Given the description of an element on the screen output the (x, y) to click on. 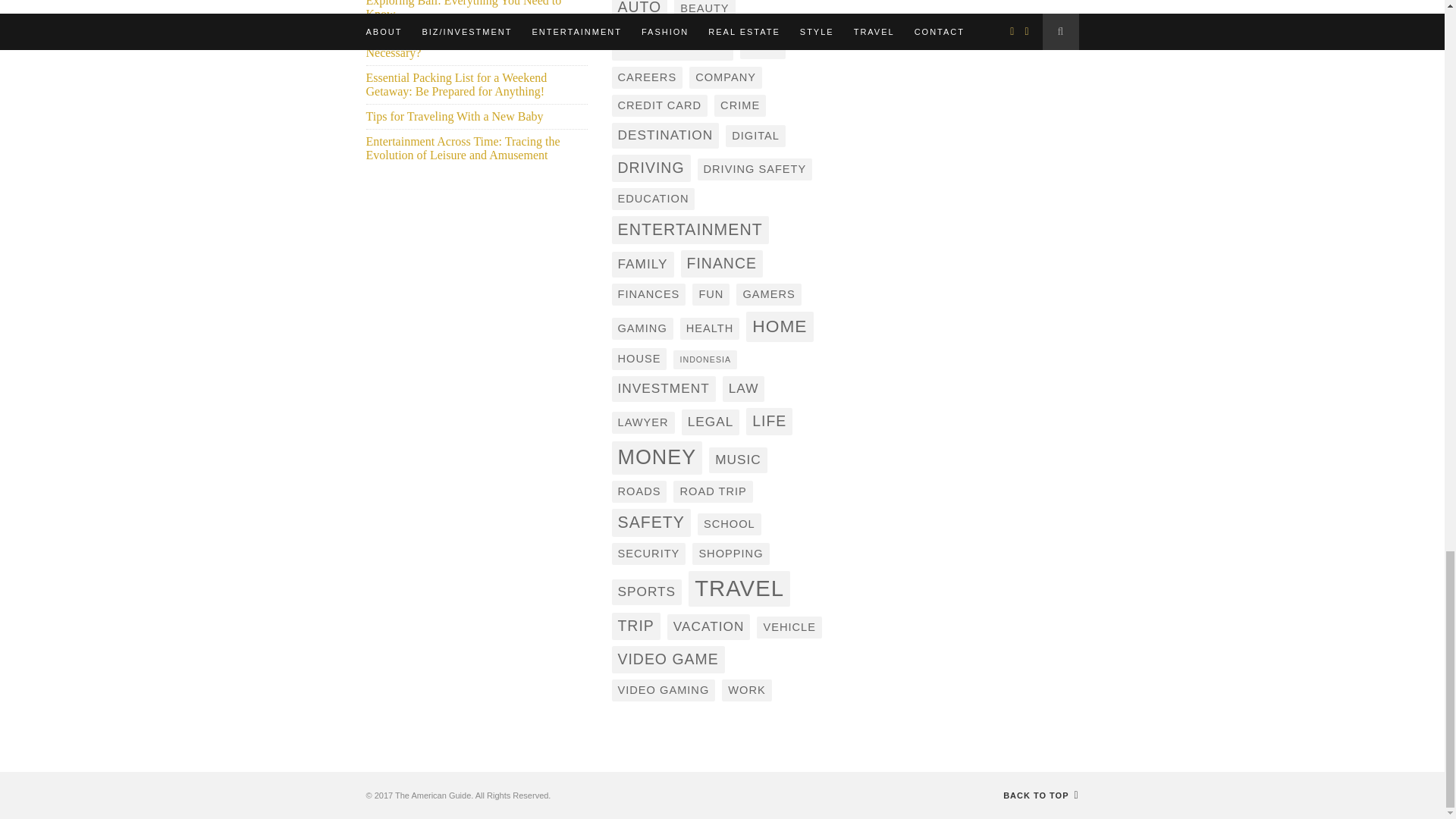
BUSINESS (671, 43)
Tips for Traveling With a New Baby (454, 115)
BEAUTY (704, 9)
AUTO (638, 10)
Tire and Wheel Protection Plans: Are They Necessary? (469, 45)
Exploring Bali: Everything You Need to Know (462, 10)
CAR (762, 44)
